Given the description of an element on the screen output the (x, y) to click on. 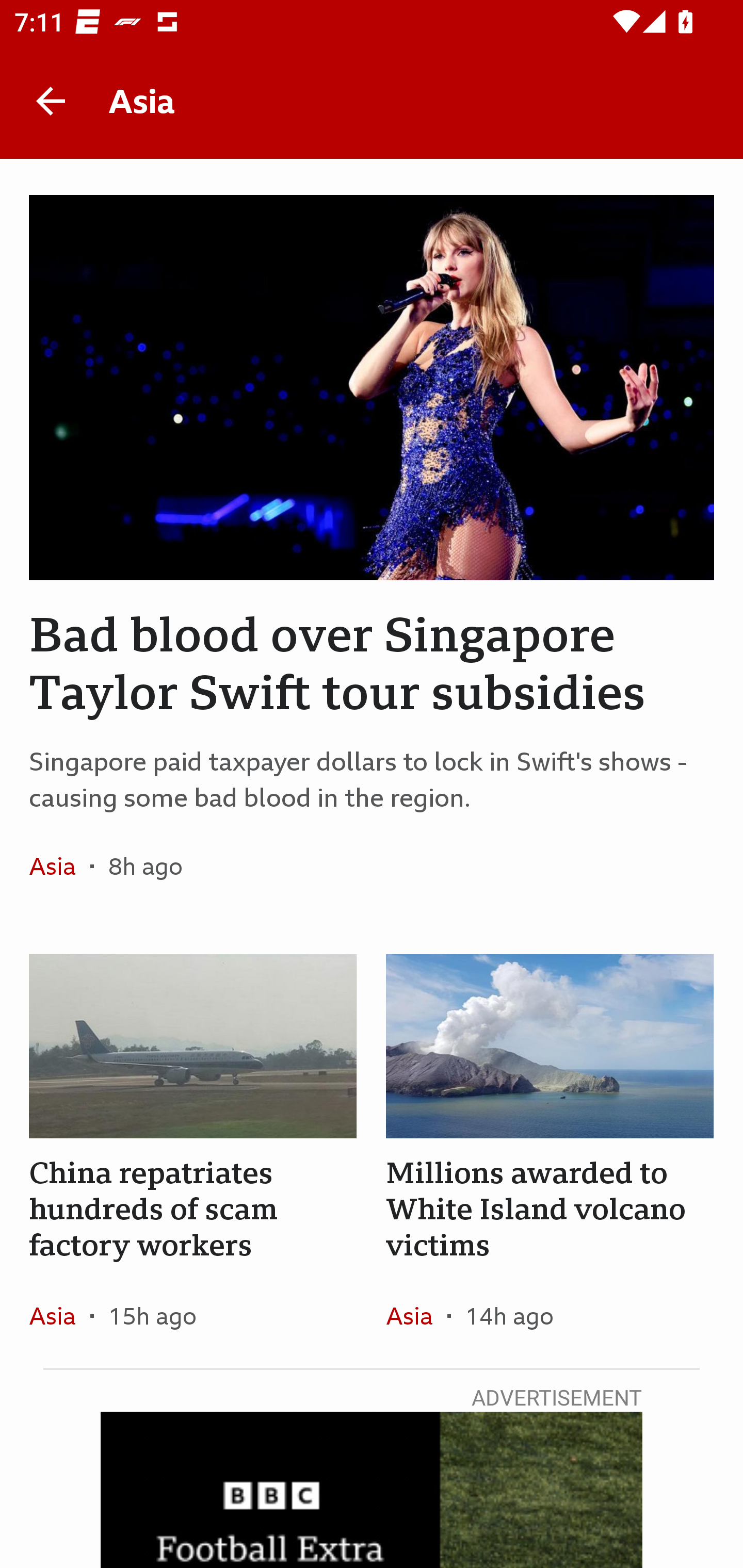
Back (50, 101)
Asia In the section Asia (59, 865)
Asia In the section Asia (59, 1315)
Asia In the section Asia (416, 1315)
